Given the description of an element on the screen output the (x, y) to click on. 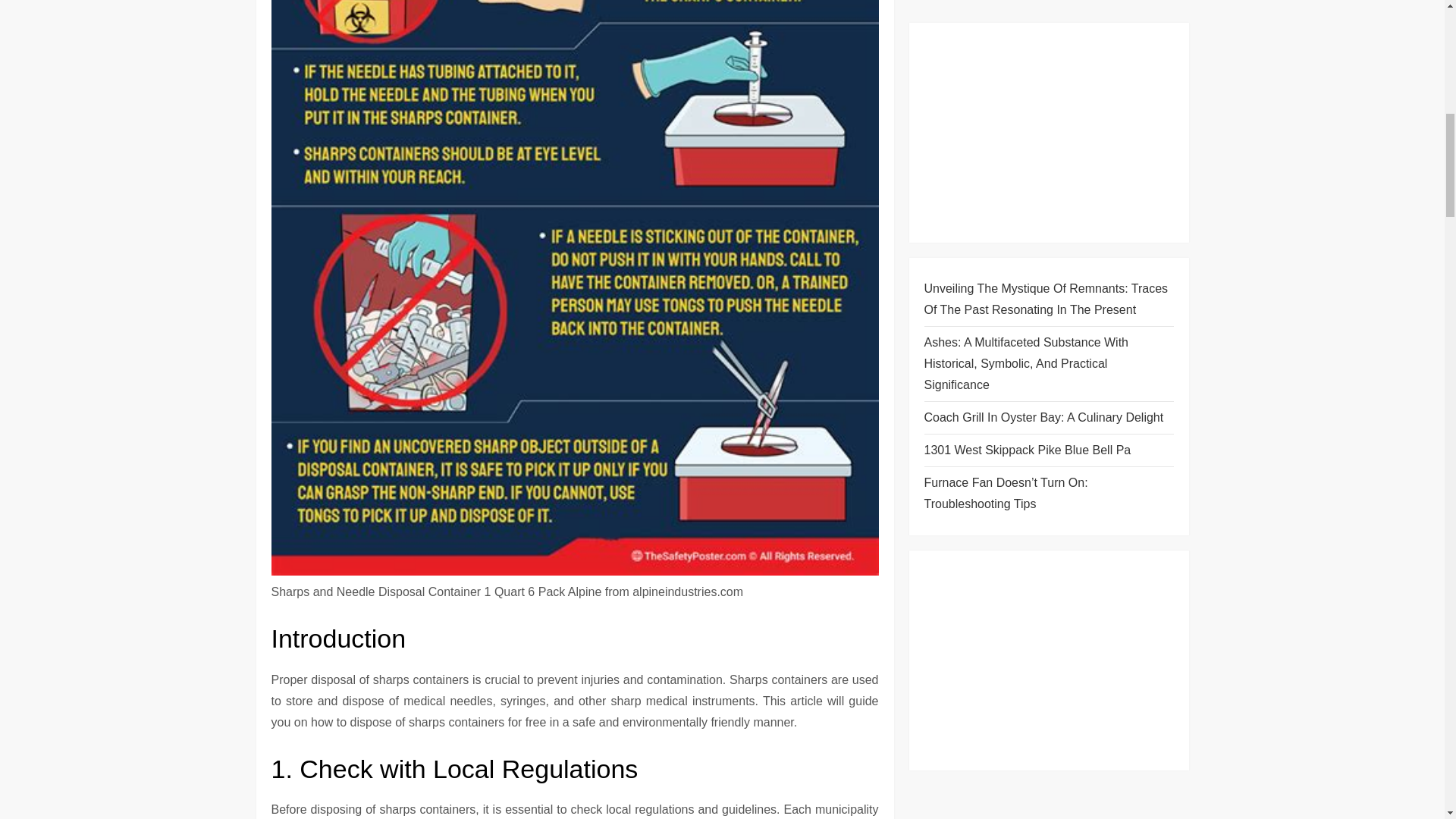
Advertisement (1048, 52)
